Given the description of an element on the screen output the (x, y) to click on. 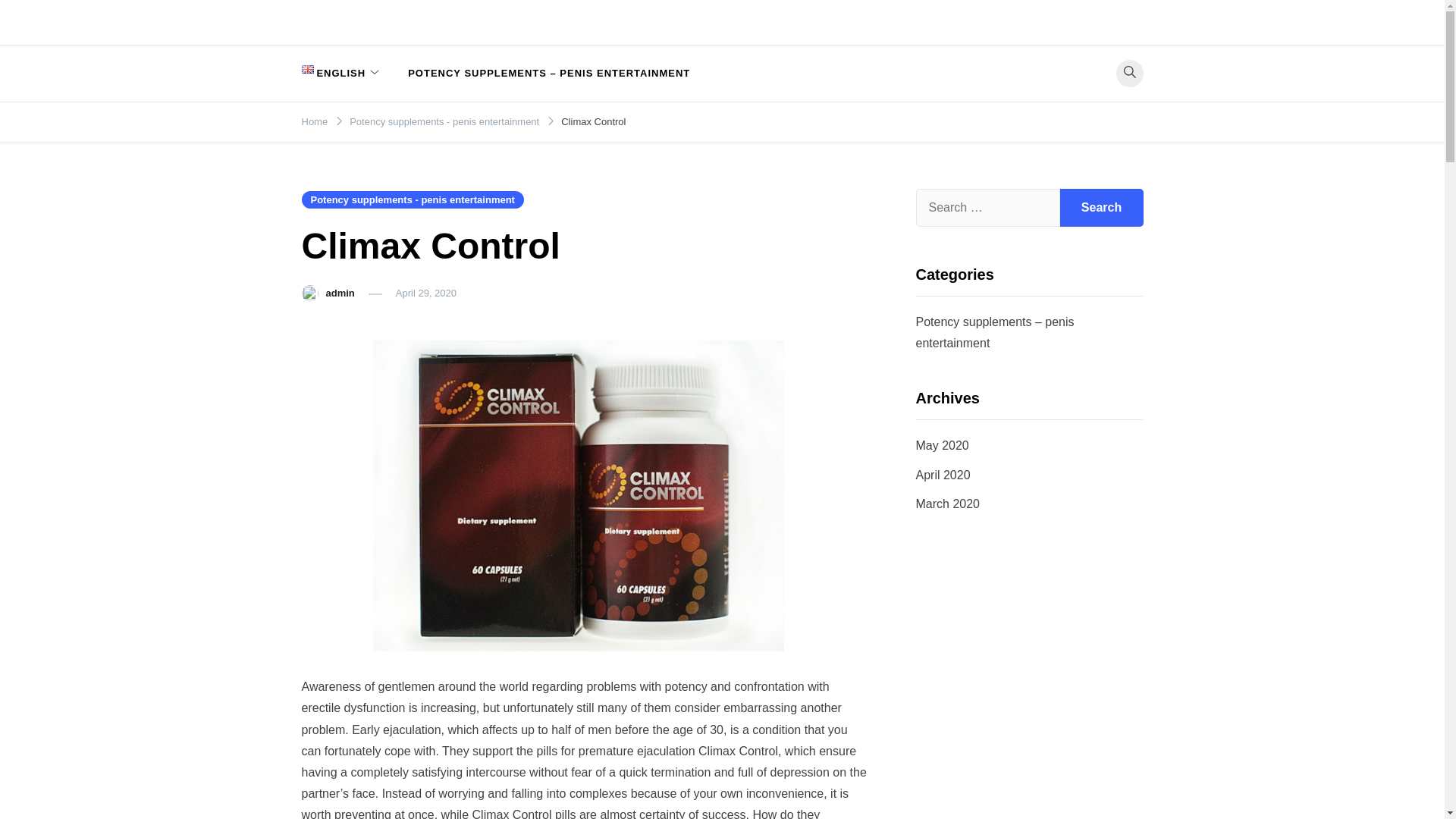
Search (1100, 207)
ENGLISH (341, 73)
Search (1100, 207)
